Given the description of an element on the screen output the (x, y) to click on. 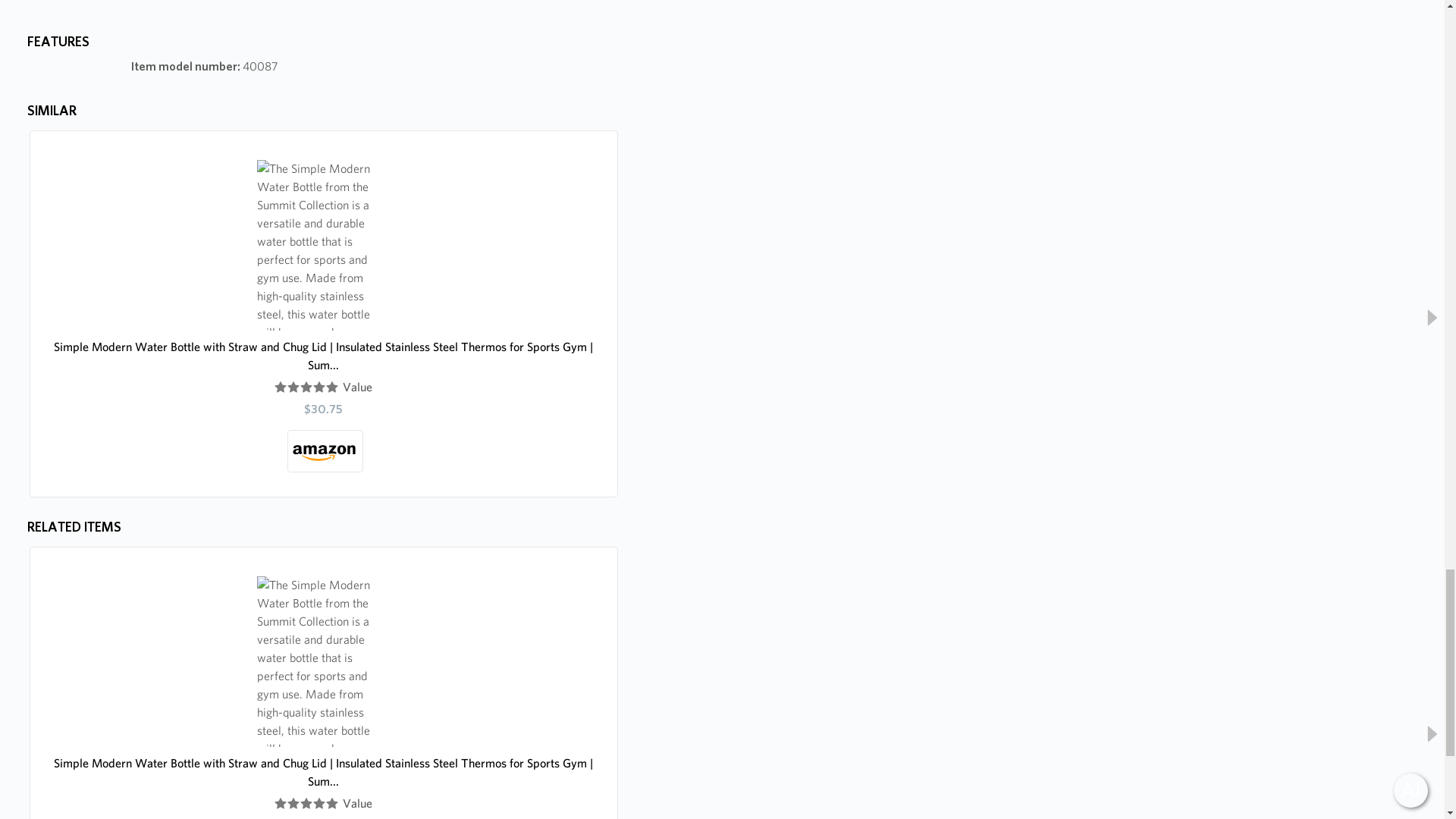
4.5 (307, 387)
4.5 (307, 803)
